Given the description of an element on the screen output the (x, y) to click on. 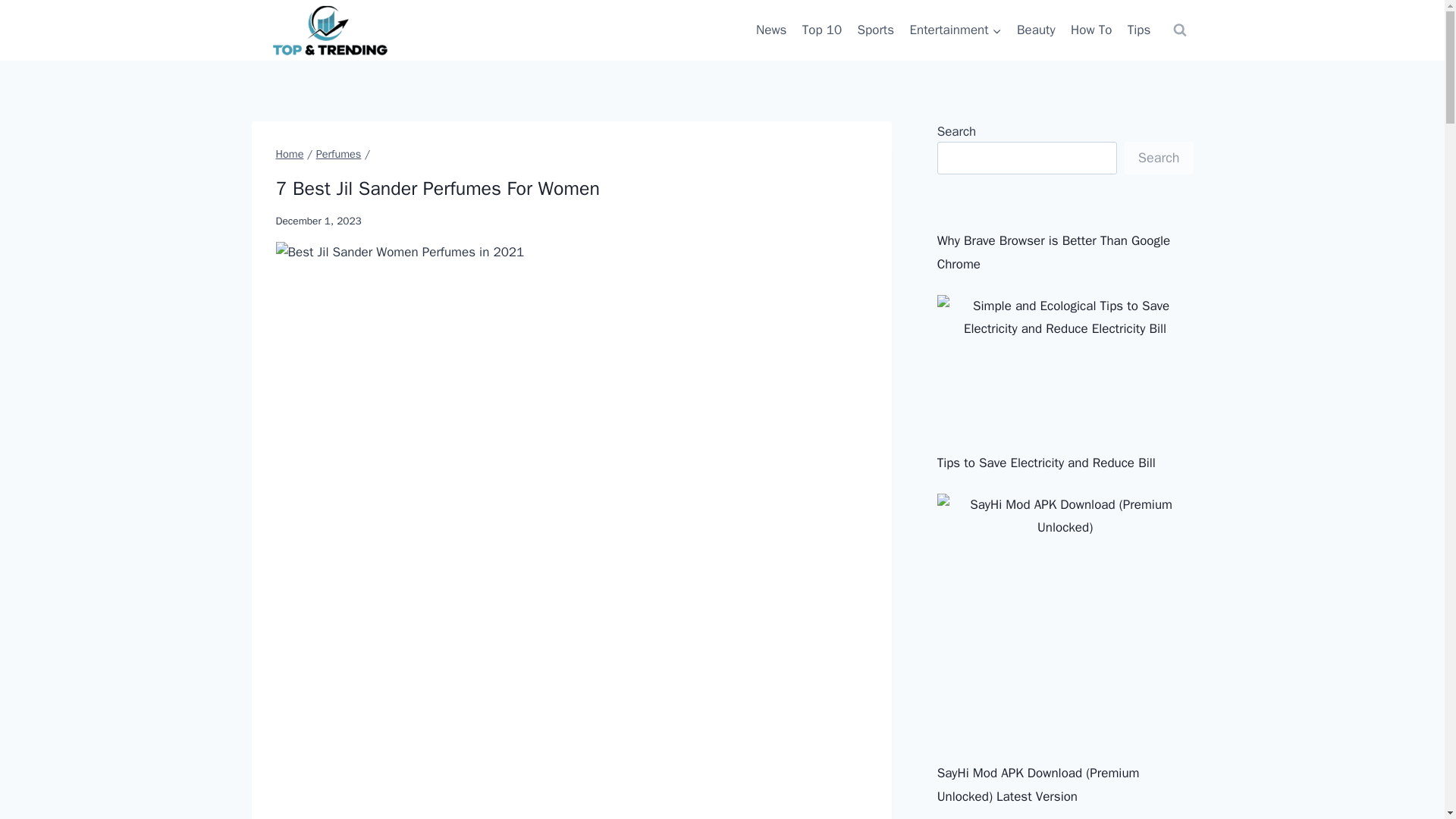
Why Brave Browser is Better Than Google Chrome (1053, 251)
Home (290, 153)
Top 10 (822, 30)
Beauty (1035, 30)
News (771, 30)
Tips (1138, 30)
Entertainment (955, 30)
Sports (874, 30)
Perfumes (338, 153)
How To (1090, 30)
Search (1158, 157)
